Given the description of an element on the screen output the (x, y) to click on. 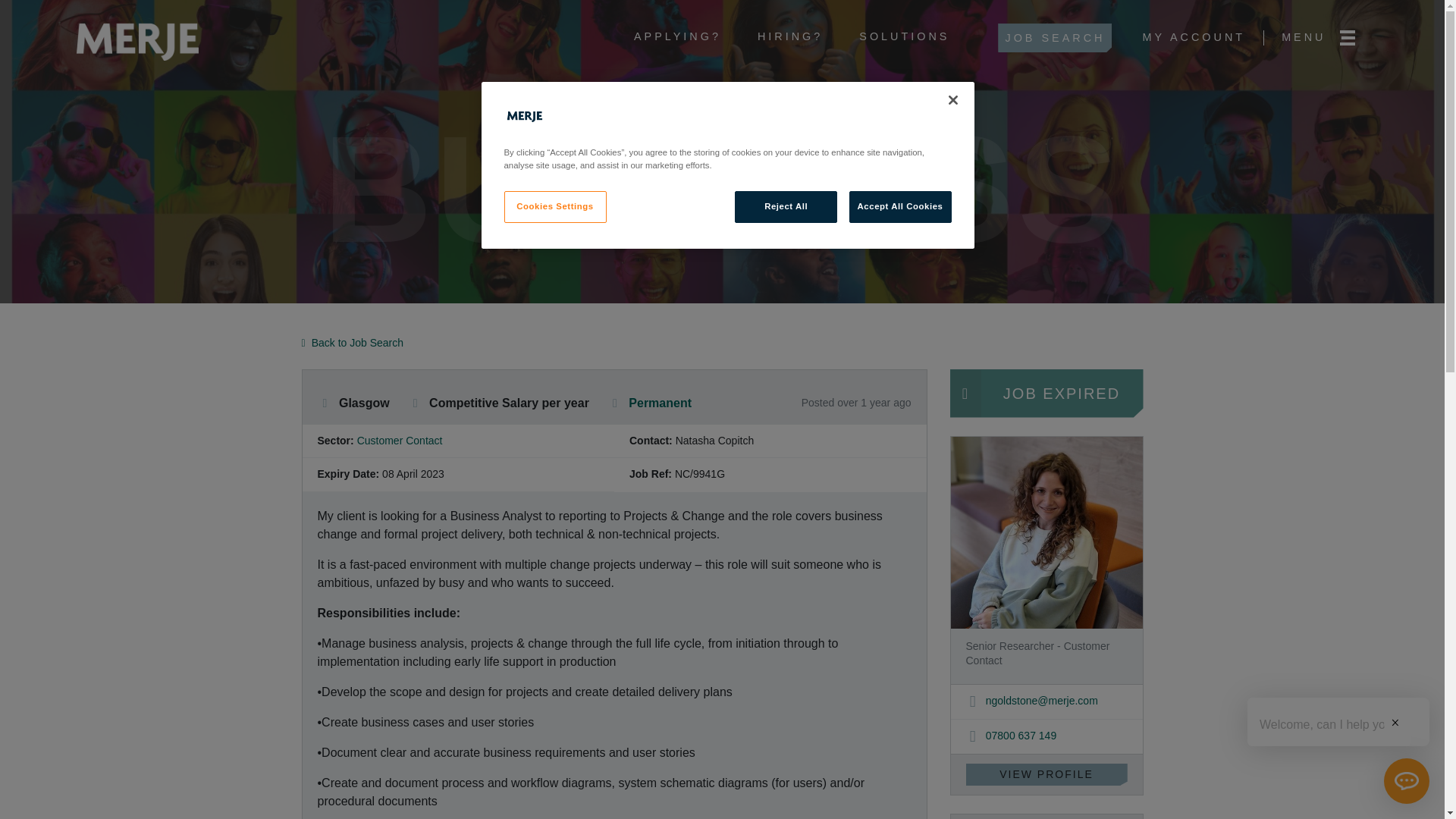
07800 637 149 (1011, 735)
Job Type (615, 403)
SOLUTIONS (904, 37)
Salary (415, 403)
Permanent (659, 402)
JOB EXPIRED (1045, 393)
Back to Job Search (352, 343)
MY ACCOUNT (1192, 38)
Location (324, 403)
Company Logo (524, 116)
VIEW PROFILE (1046, 774)
MENU (1321, 38)
Customer Contact (399, 440)
JOB SEARCH (1054, 37)
HIRING? (789, 37)
